Given the description of an element on the screen output the (x, y) to click on. 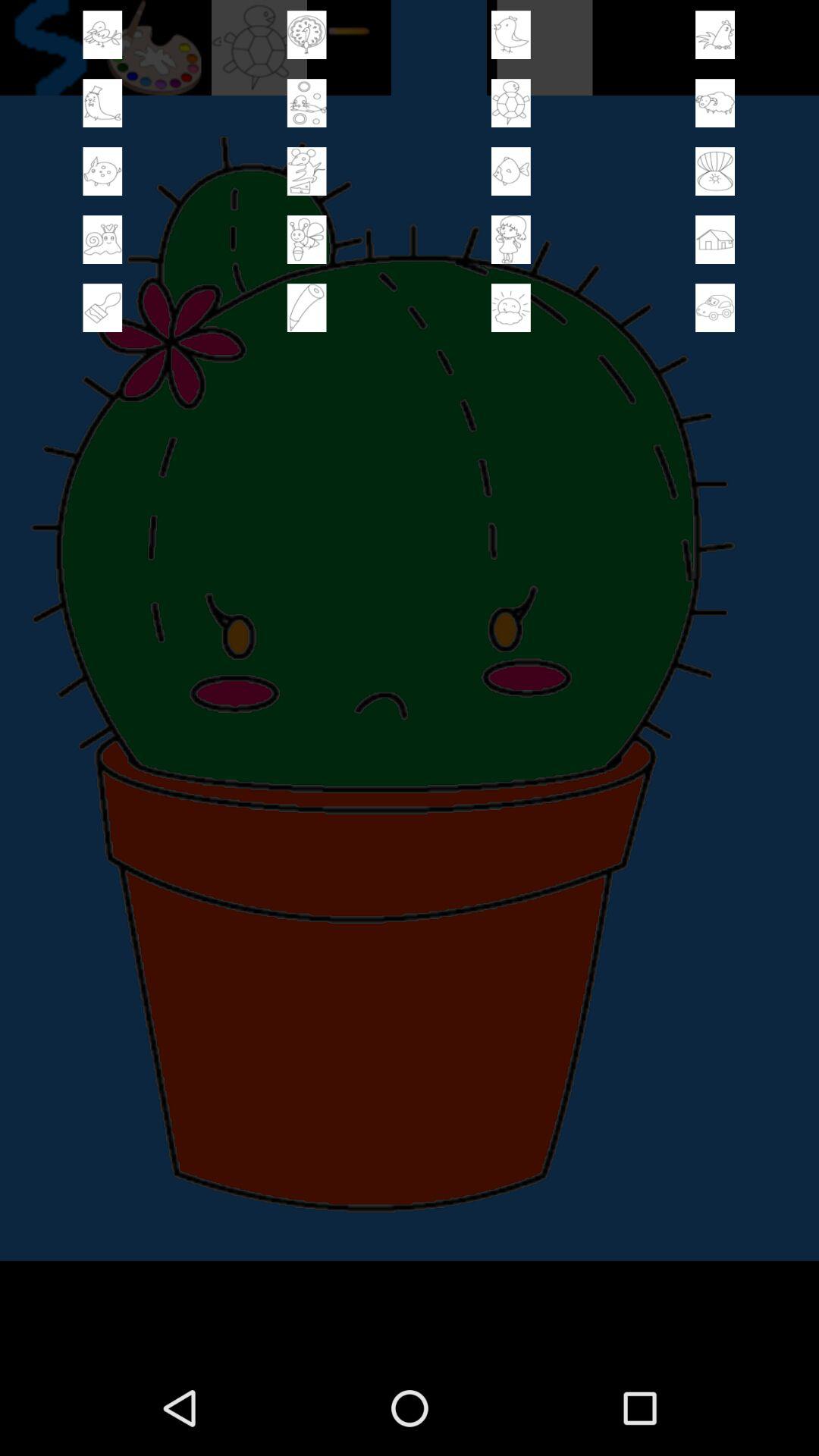
open this item (306, 239)
